Given the description of an element on the screen output the (x, y) to click on. 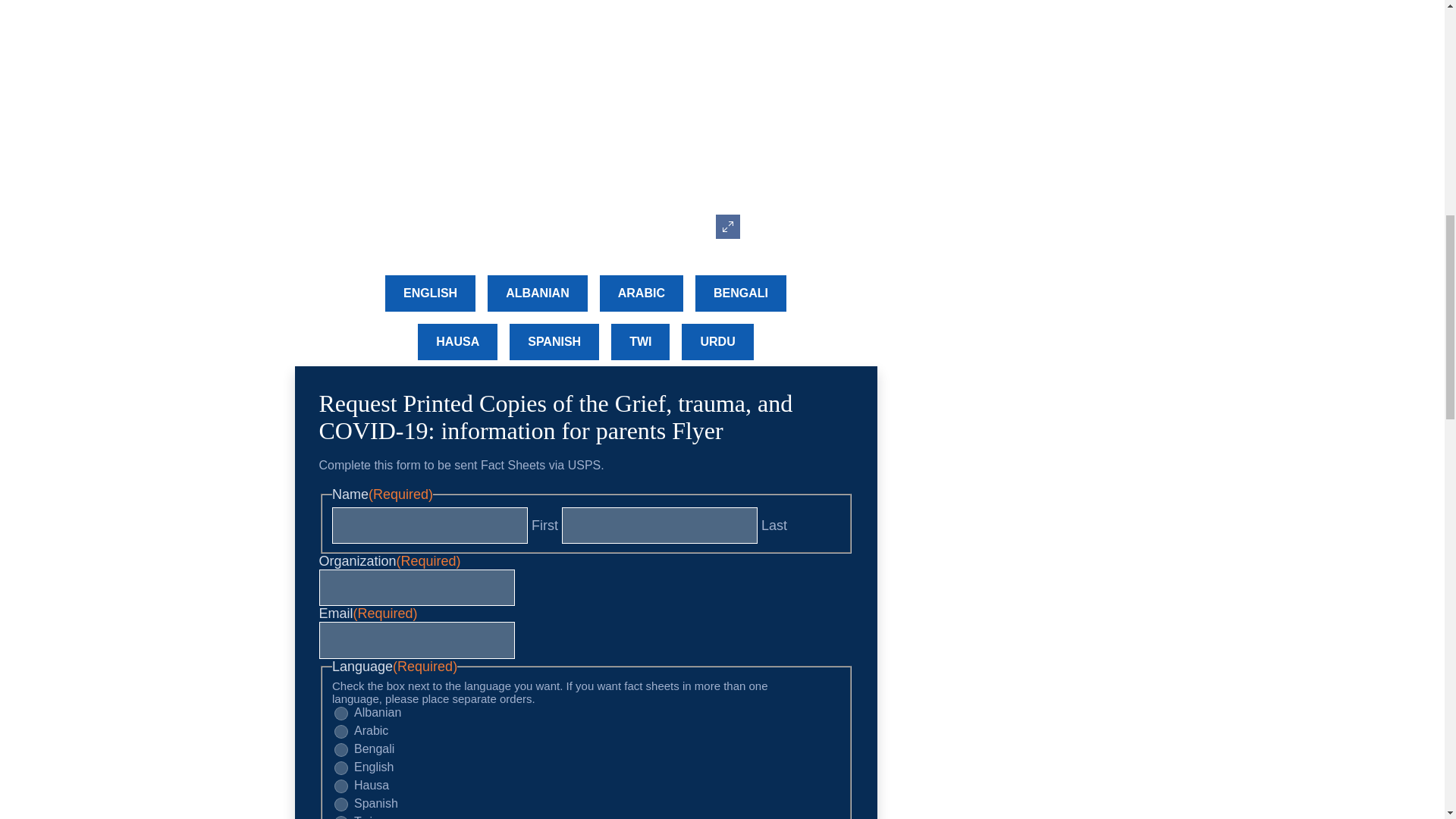
URDU (716, 341)
BENGALI (740, 293)
TWI (640, 341)
ENGLISH (430, 293)
